Given the description of an element on the screen output the (x, y) to click on. 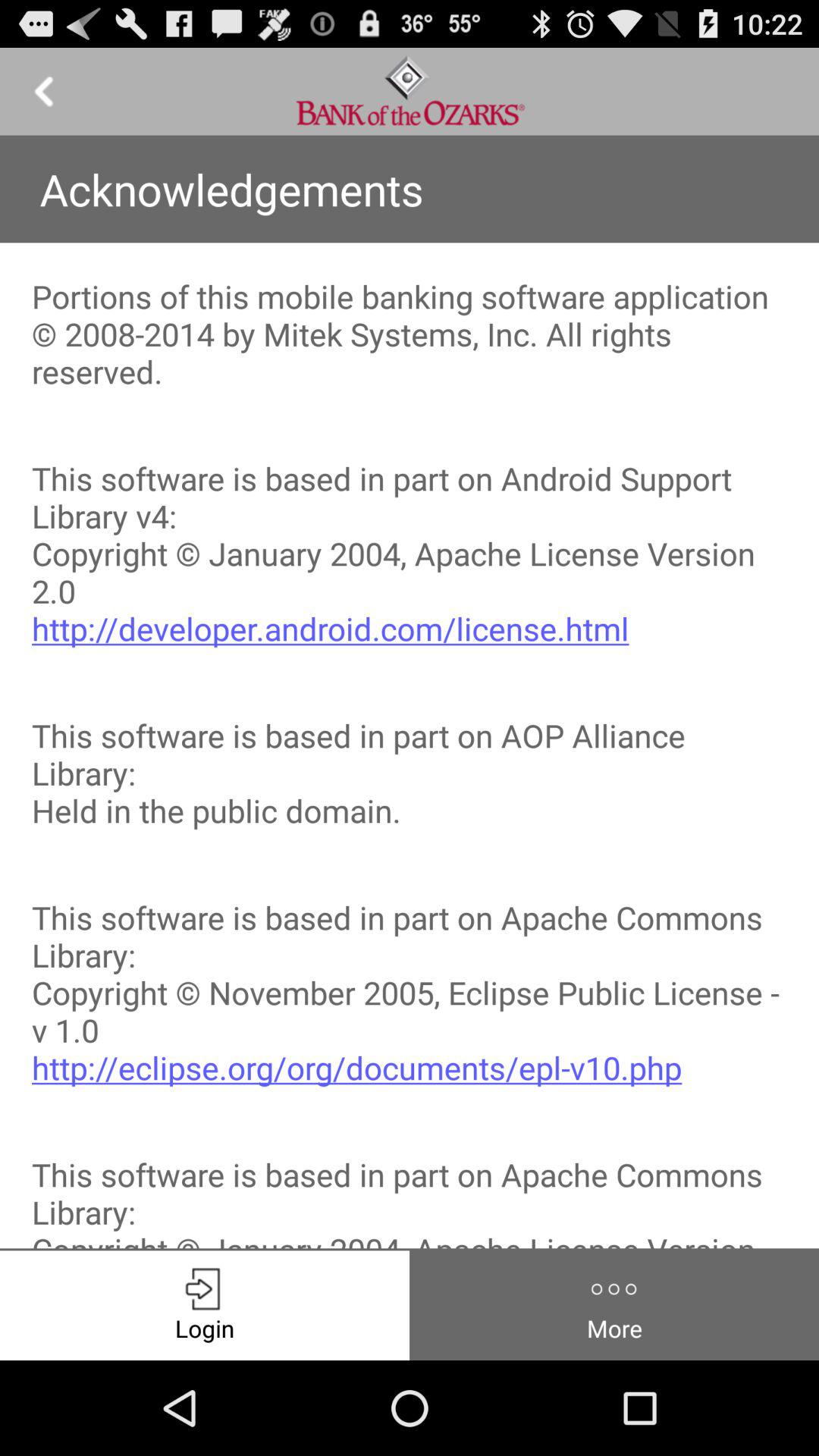
go back (43, 91)
